Given the description of an element on the screen output the (x, y) to click on. 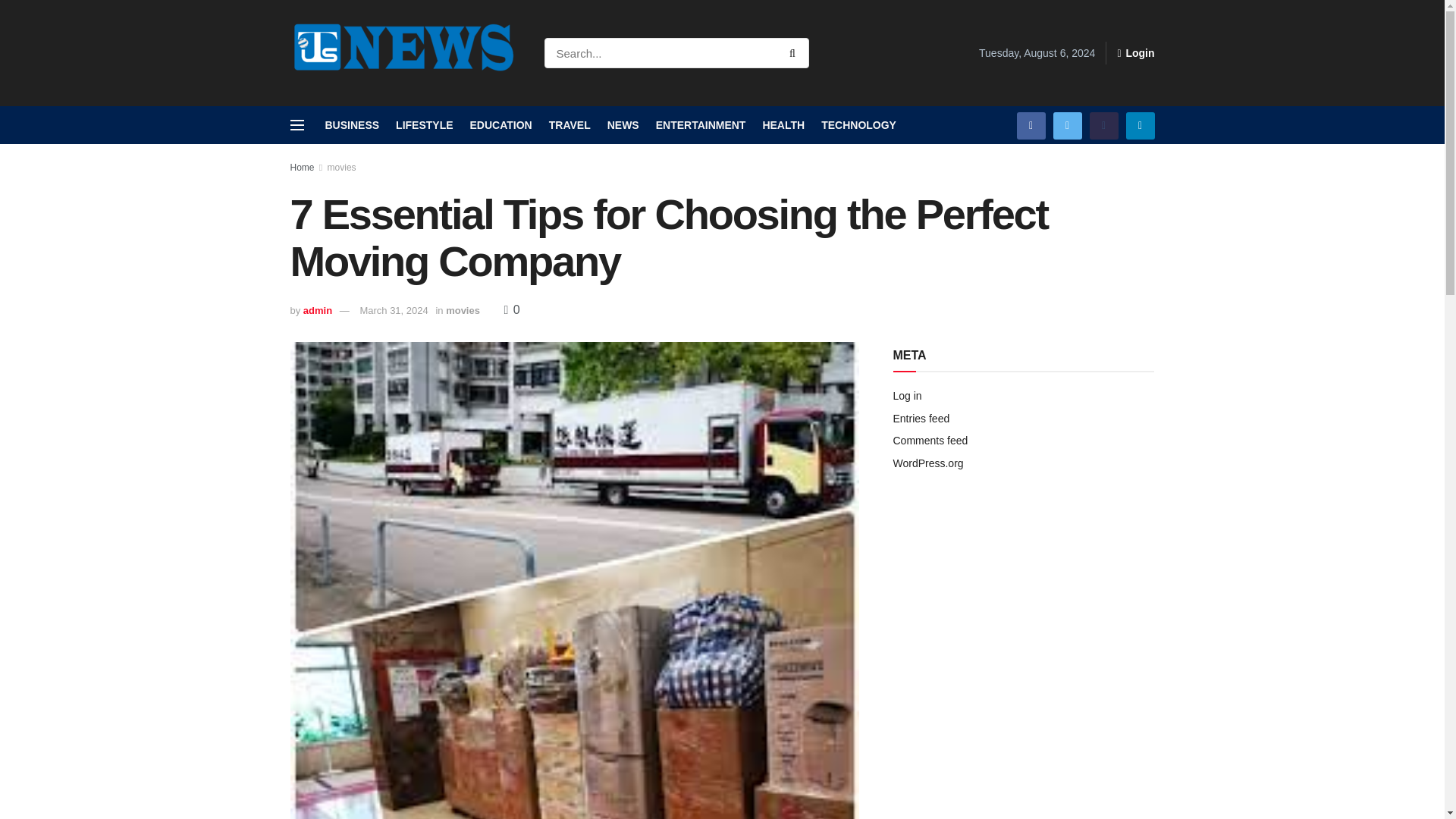
LIFESTYLE (424, 125)
0 (511, 309)
movies (462, 310)
HEALTH (783, 125)
ENTERTAINMENT (700, 125)
BUSINESS (351, 125)
Home (301, 167)
TRAVEL (569, 125)
Login (1135, 53)
movies (341, 167)
March 31, 2024 (393, 310)
TECHNOLOGY (858, 125)
EDUCATION (501, 125)
admin (316, 310)
